Given the description of an element on the screen output the (x, y) to click on. 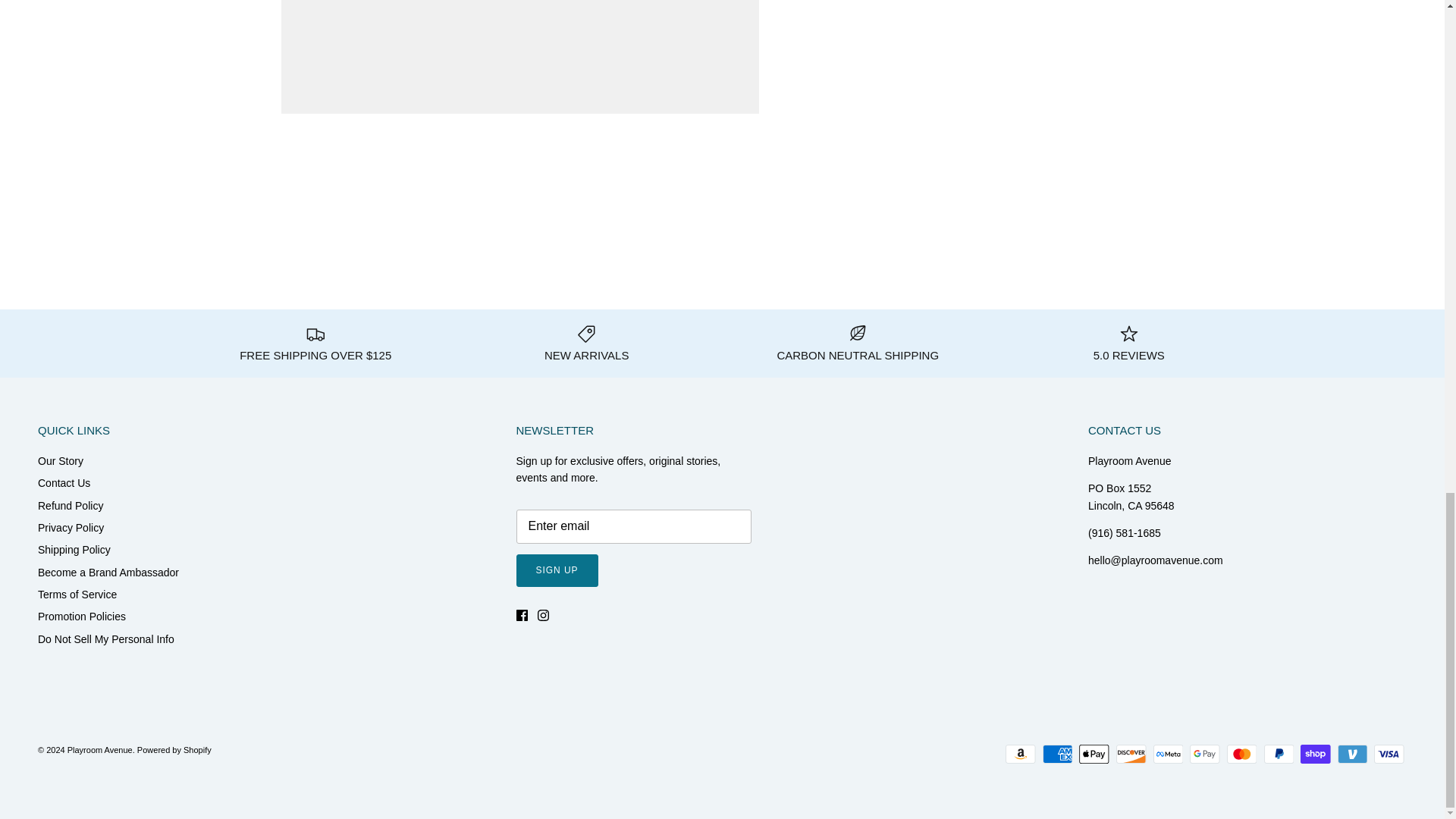
American Express (1057, 753)
Facebook (521, 614)
Apple Pay (1093, 753)
Instagram (542, 614)
Amazon (1020, 753)
